Given the description of an element on the screen output the (x, y) to click on. 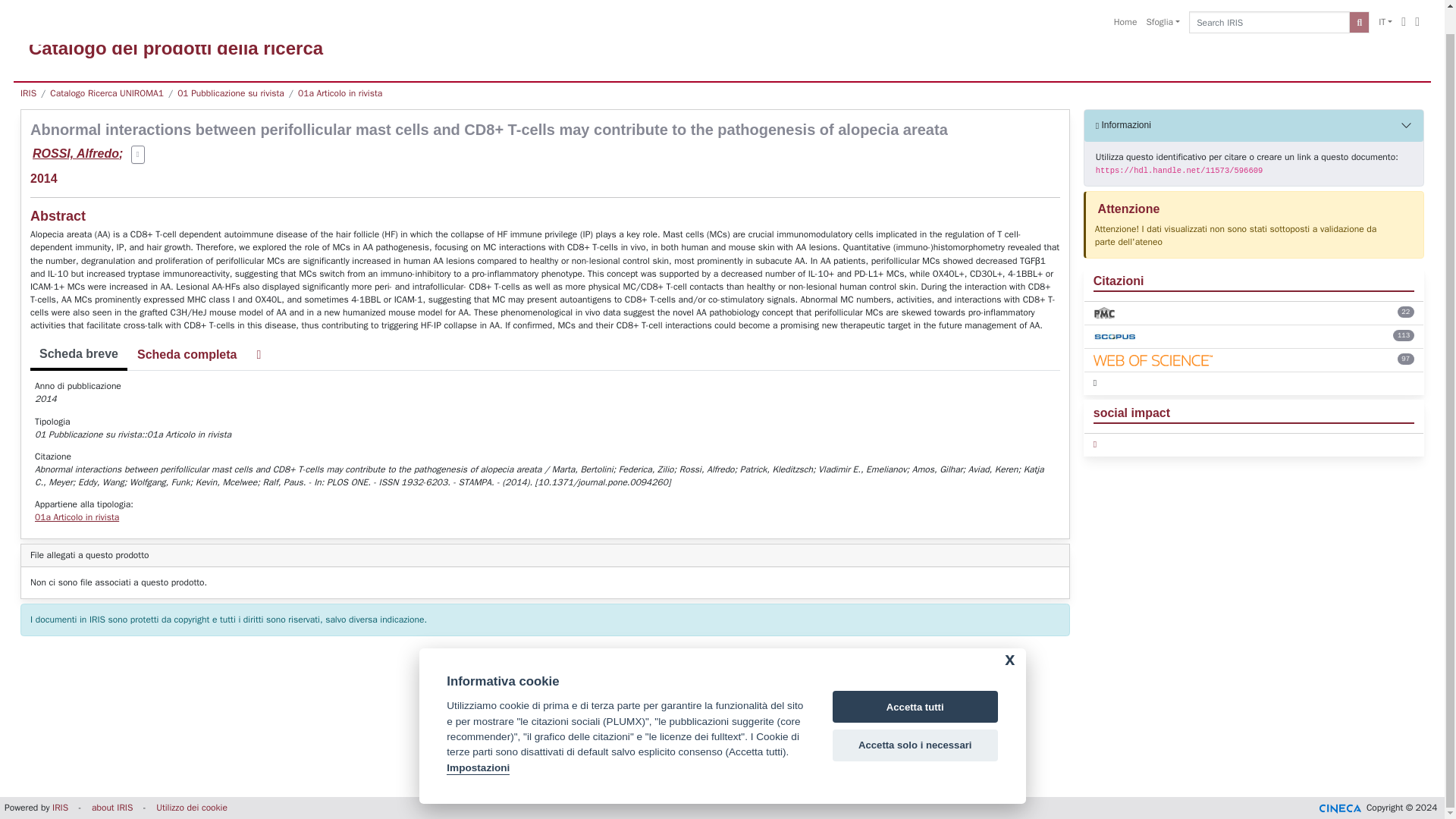
IT (1385, 4)
IRIS (60, 807)
about IRIS (111, 807)
Utilizzo dei cookie (191, 807)
01a Articolo in rivista (76, 517)
Catalogo Ricerca UNIROMA1 (106, 92)
01a Articolo in rivista (339, 92)
01 Pubblicazione su rivista (230, 92)
IRIS (28, 92)
